Given the description of an element on the screen output the (x, y) to click on. 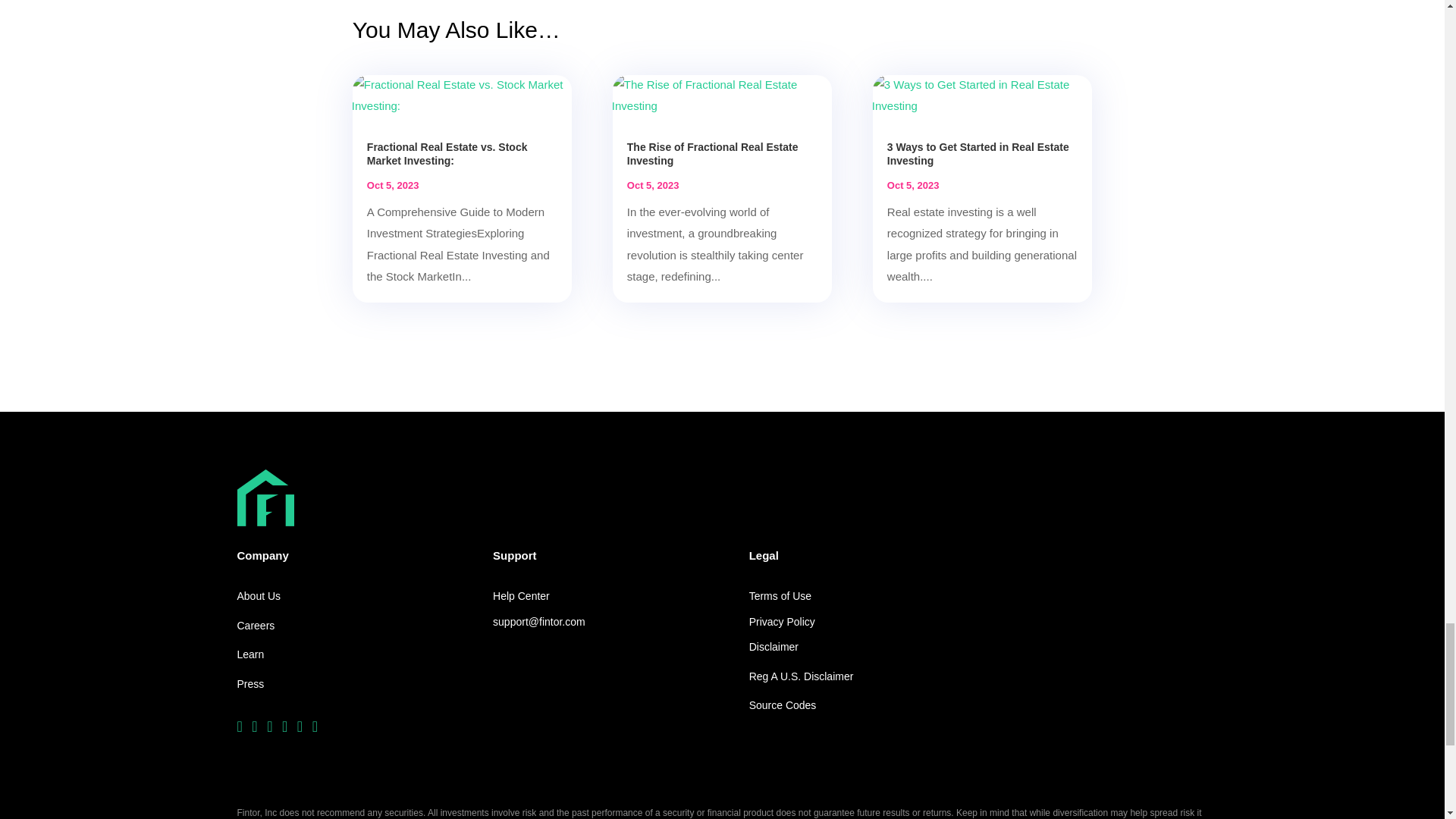
Careers (255, 626)
Source Codes (782, 705)
Reg A U.S. Disclaimer (801, 677)
Learn (249, 655)
Press (249, 684)
The Rise of Fractional Real Estate Investing (712, 153)
Privacy Policy (782, 622)
Help Center (521, 597)
3 Ways to Get Started in Real Estate Investing (977, 153)
Fractional Real Estate vs. Stock Market Investing: (446, 153)
cropped-cropped-fintor-icon-green-S.png (264, 497)
Disclaimer (773, 647)
About Us (258, 597)
Terms of Use (779, 597)
